Given the description of an element on the screen output the (x, y) to click on. 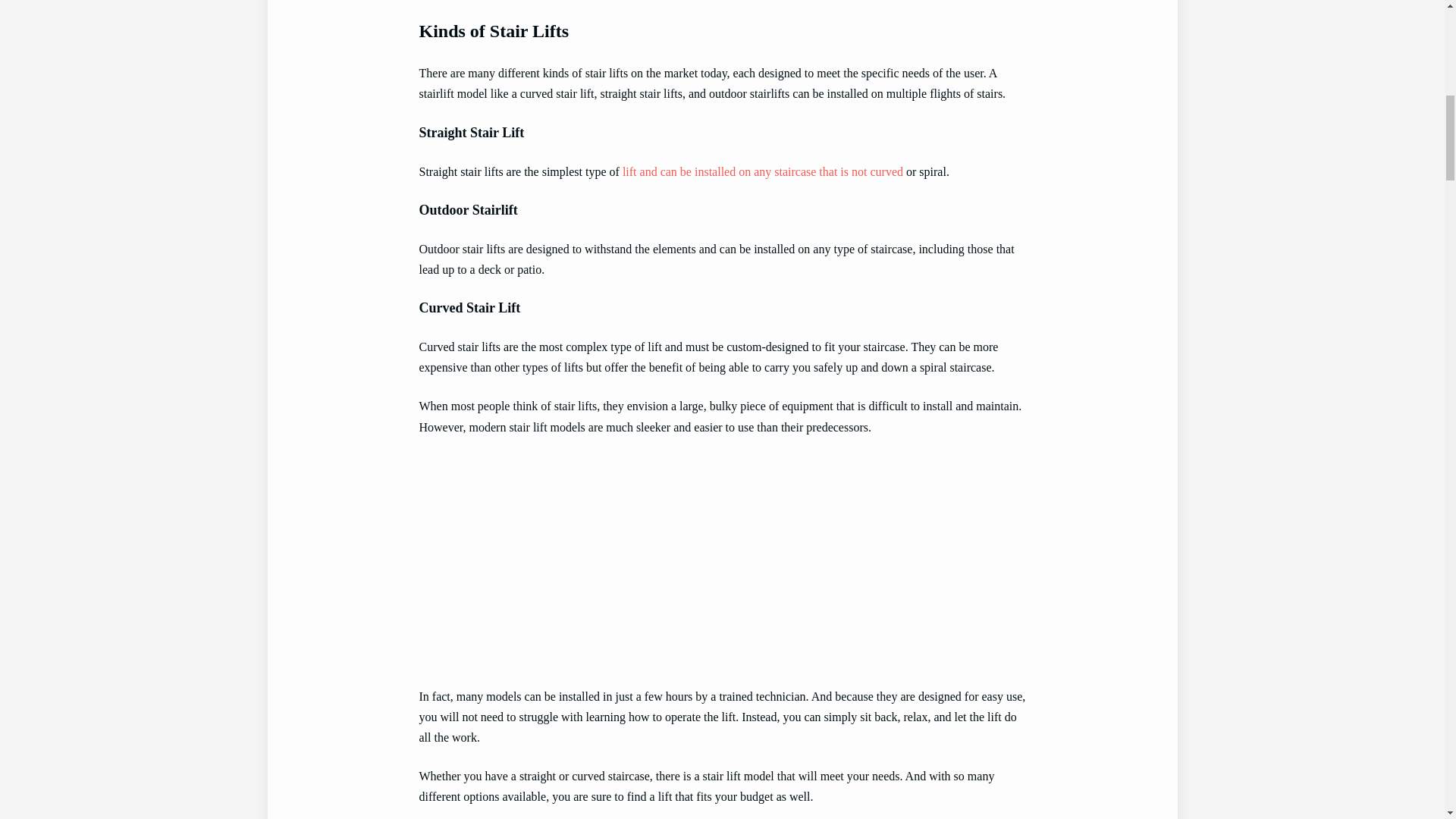
Advertisement (722, 561)
